Given the description of an element on the screen output the (x, y) to click on. 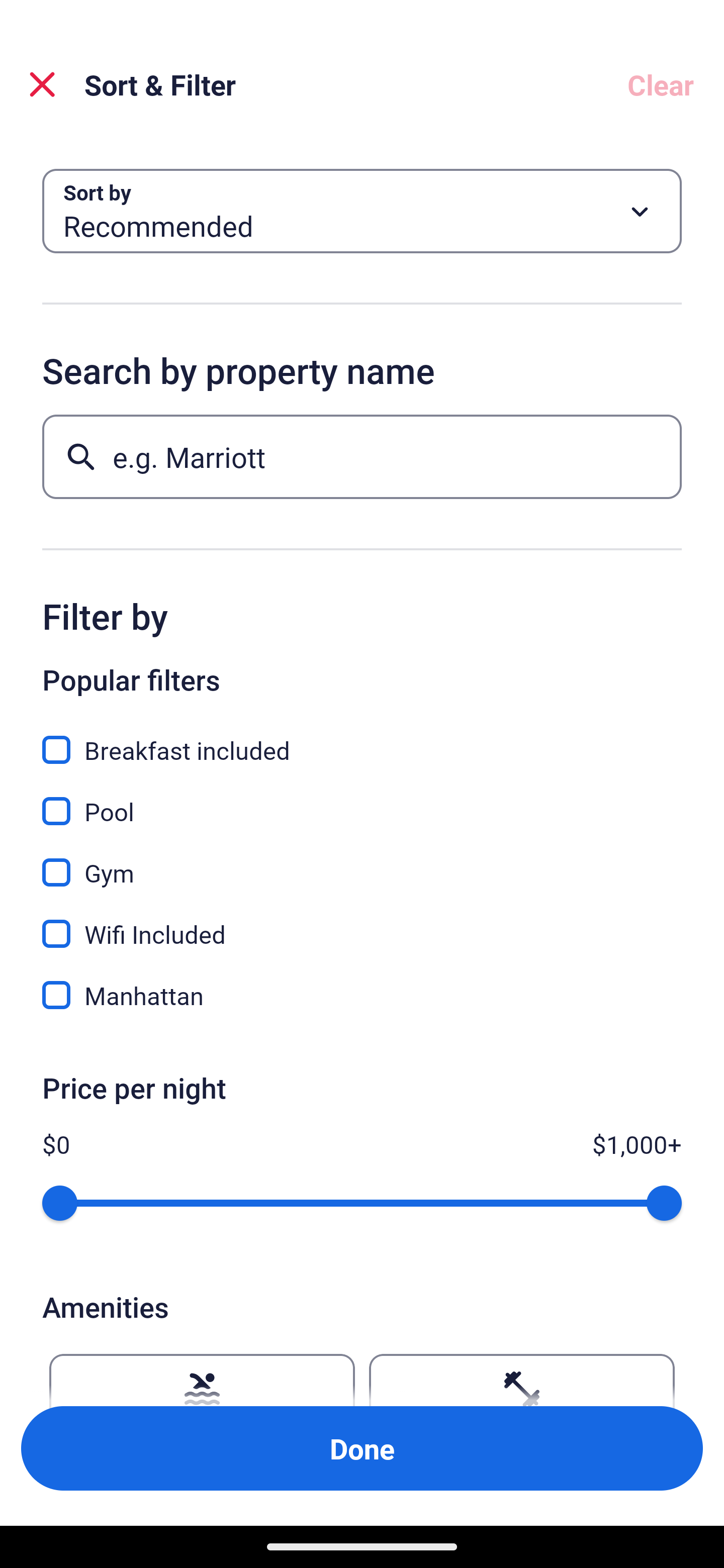
Close Sort and Filter (42, 84)
Clear (660, 84)
Sort by Button Recommended (361, 211)
e.g. Marriott Button (361, 455)
Breakfast included, Breakfast included (361, 738)
Pool, Pool (361, 800)
Gym, Gym (361, 861)
Wifi Included, Wifi Included (361, 922)
Manhattan, Manhattan (361, 995)
Apply and close Sort and Filter Done (361, 1448)
